Given the description of an element on the screen output the (x, y) to click on. 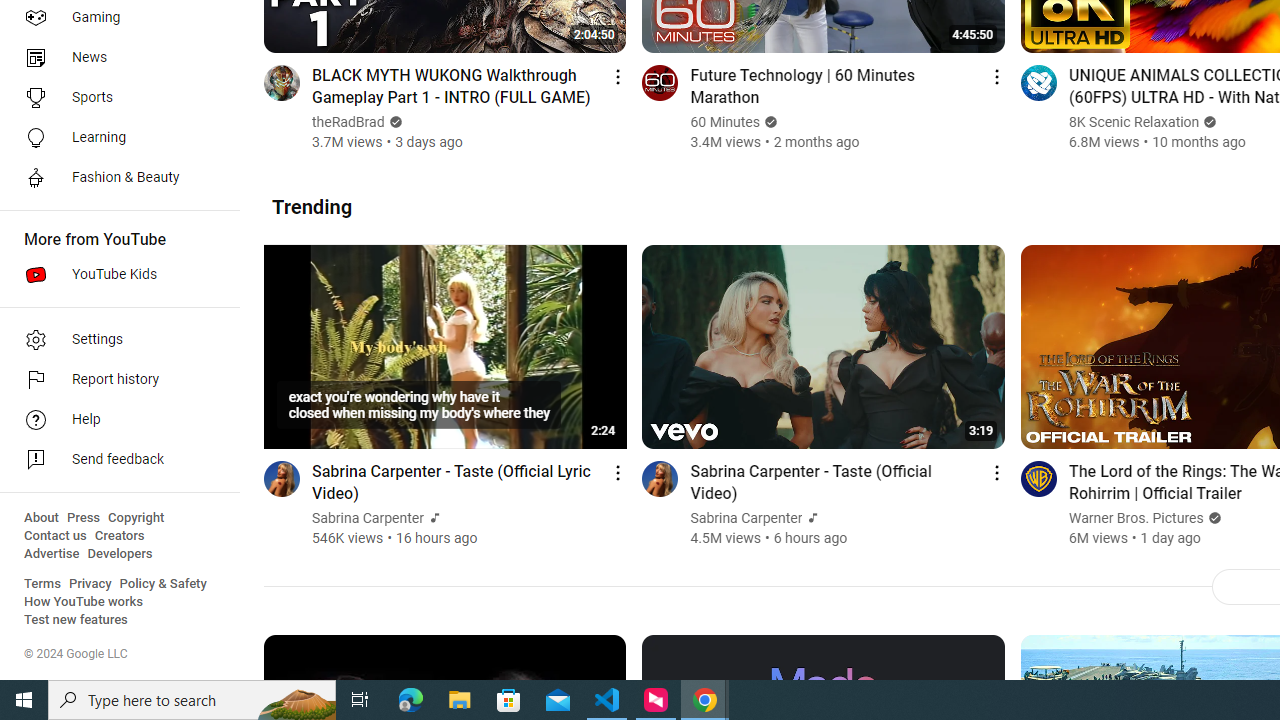
theRadBrad (349, 122)
Test new features (76, 620)
Official Artist Channel (811, 518)
Help (113, 419)
How YouTube works (83, 602)
Creators (118, 536)
8K Scenic Relaxation (1133, 122)
Sports (113, 97)
60 Minutes (725, 122)
Policy & Safety (163, 584)
Advertise (51, 554)
About (41, 518)
Trending (312, 206)
Sabrina Carpenter (746, 518)
